Given the description of an element on the screen output the (x, y) to click on. 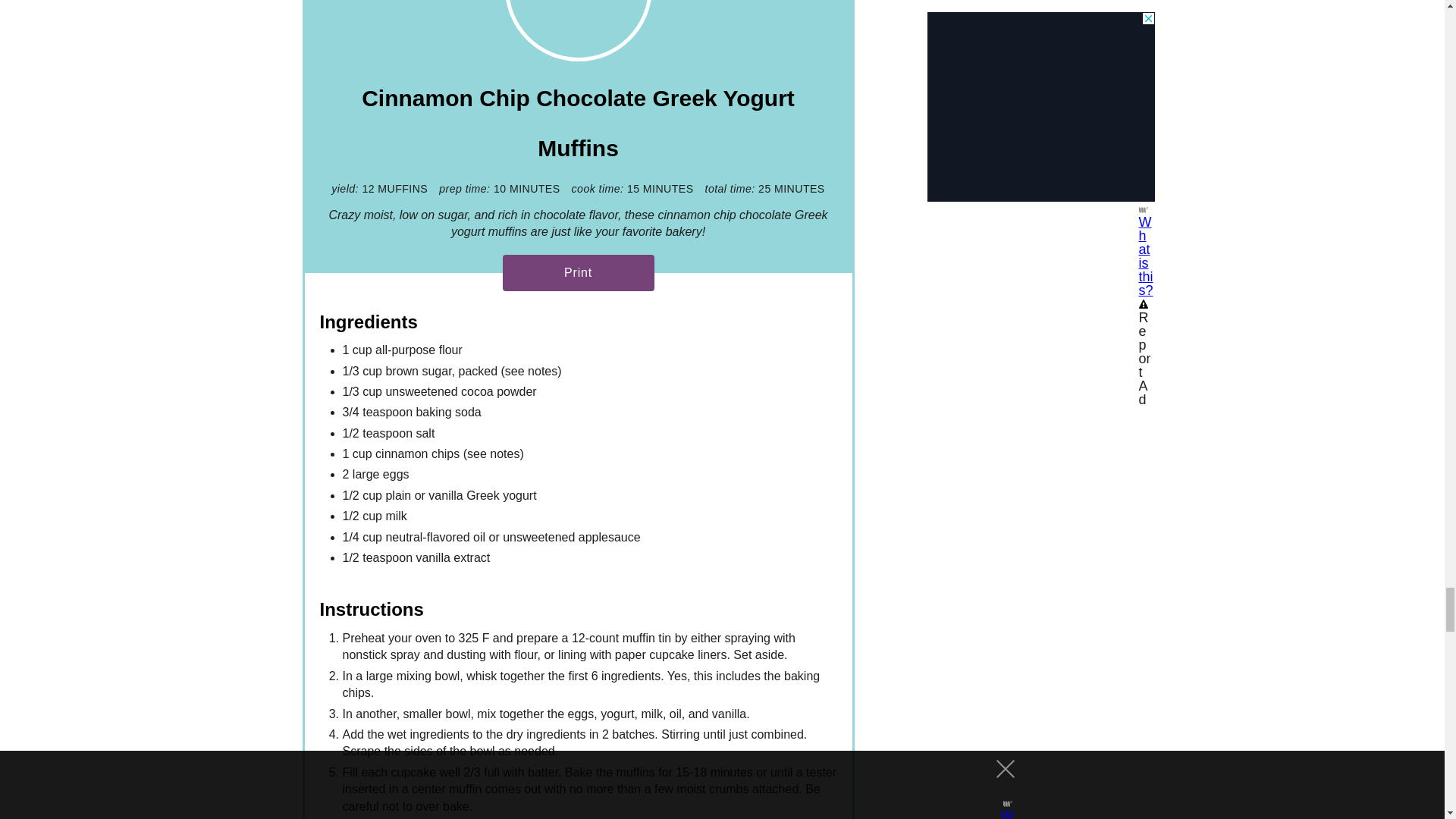
Print (577, 272)
